Given the description of an element on the screen output the (x, y) to click on. 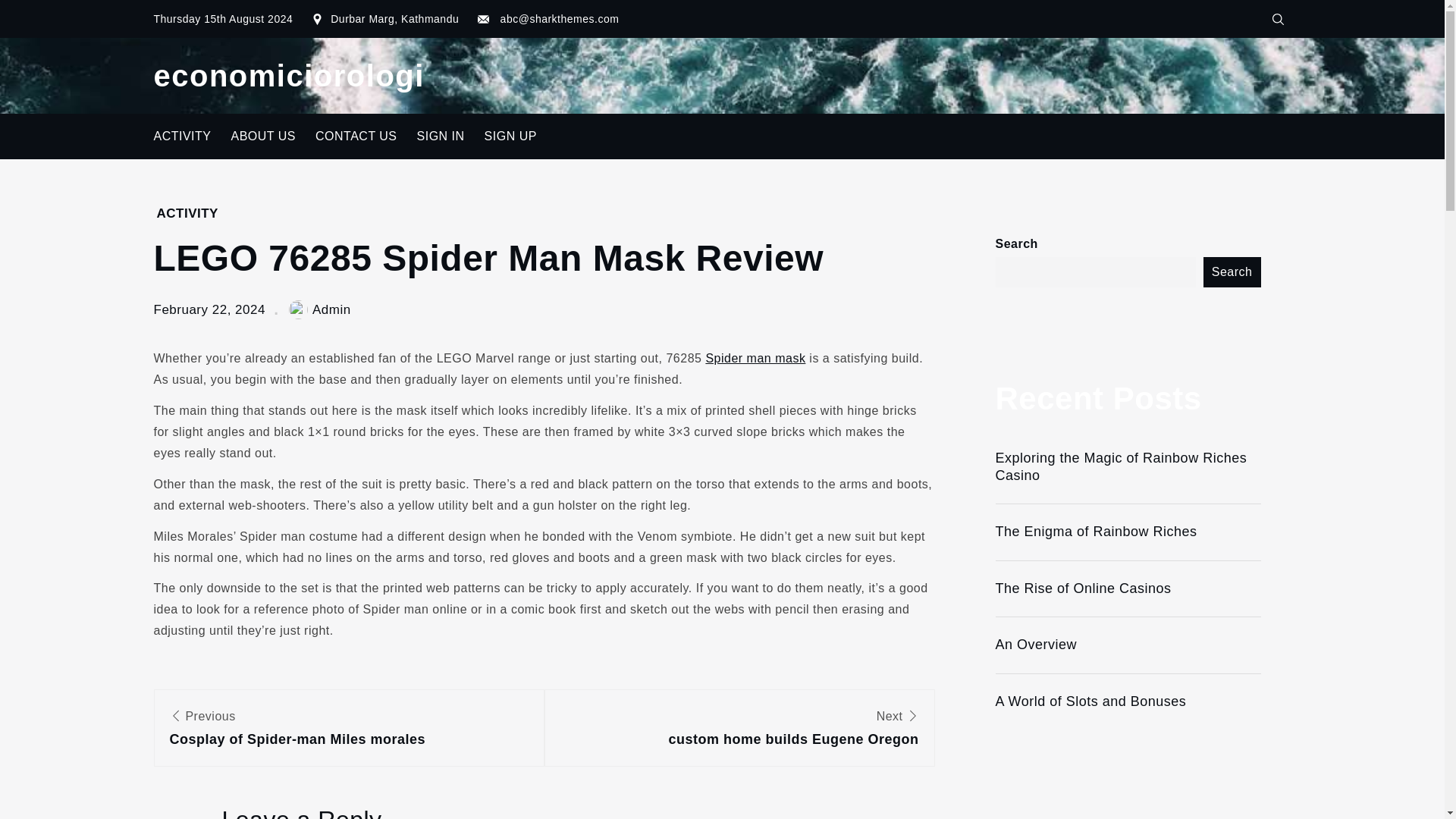
CONTACT US (356, 135)
The Enigma of Rainbow Riches (1127, 531)
SIGN IN (440, 135)
economiciorologi (287, 75)
SIGN UP (349, 730)
A World of Slots and Bonuses (510, 135)
Spider man mask (1127, 701)
An Overview (754, 358)
Admin (1127, 644)
